Given the description of an element on the screen output the (x, y) to click on. 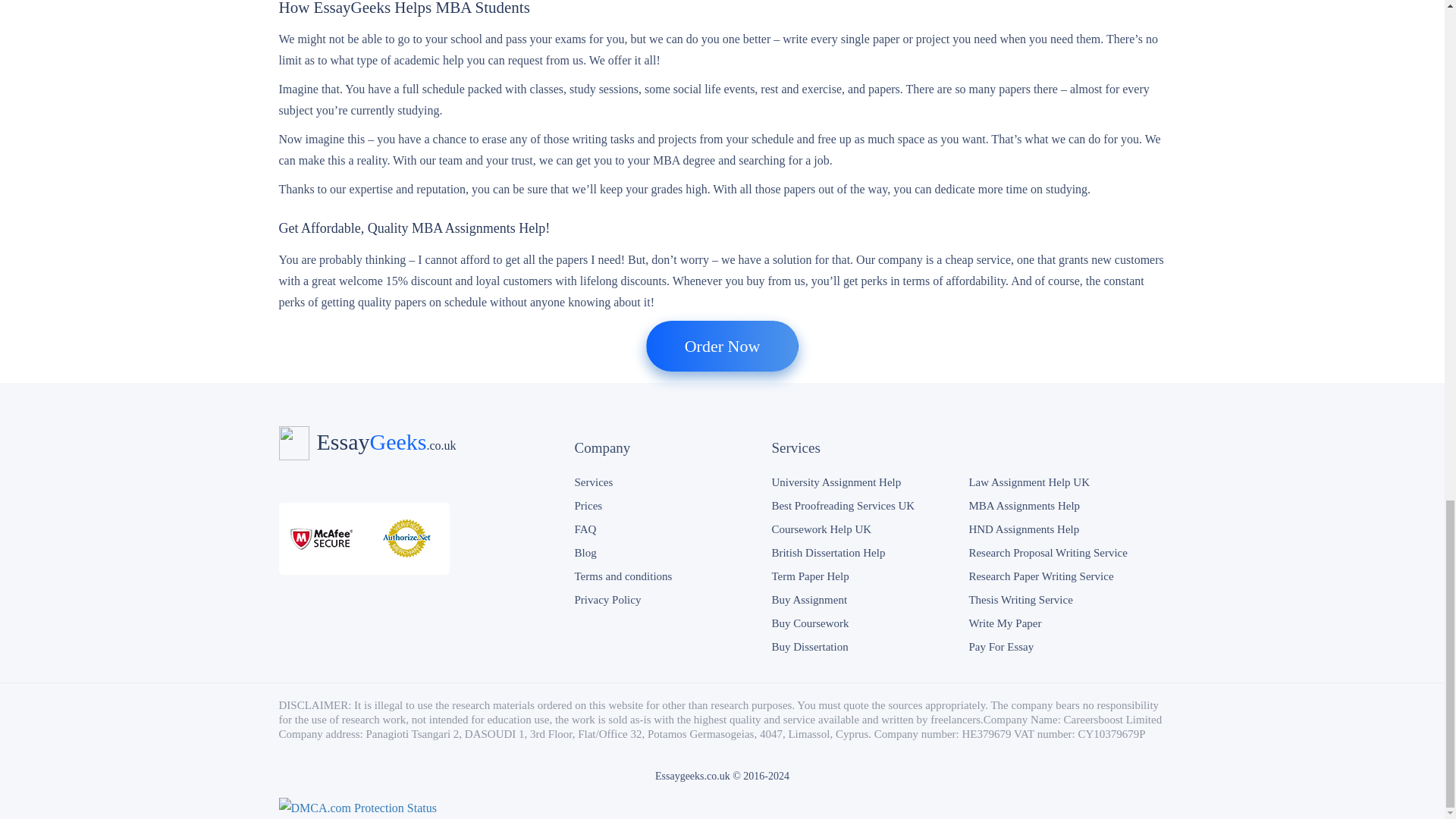
Order Now (722, 346)
Essay Geeks blog (584, 552)
Essay Geeks (363, 440)
assignment (836, 481)
Essay Geeks FAQ (584, 529)
